Given the description of an element on the screen output the (x, y) to click on. 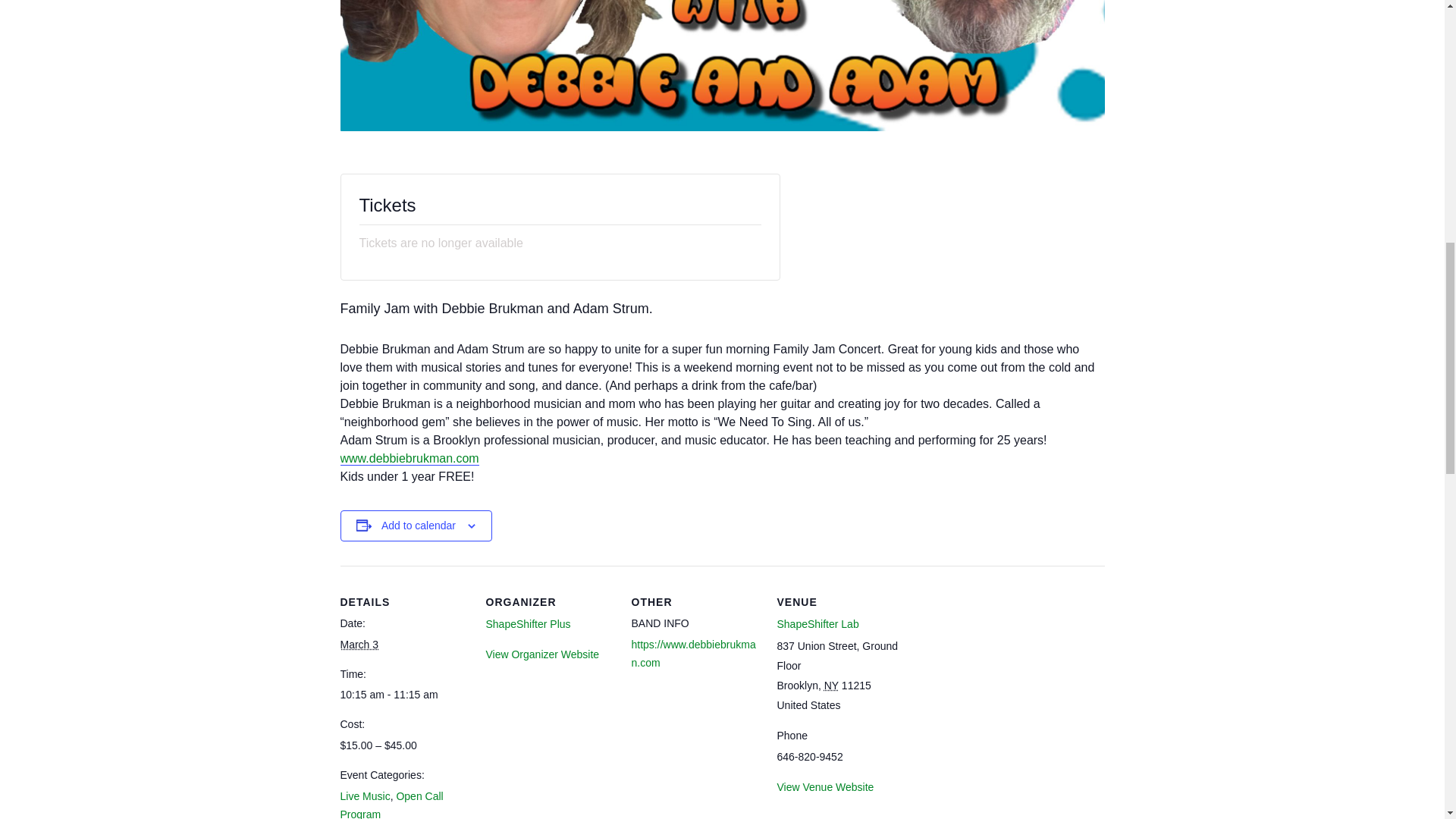
Open Call Program (390, 804)
Add to calendar (418, 525)
ShapeShifter Plus (527, 623)
ShapeShifter Plus (527, 623)
2024-03-03 (358, 644)
ShapeShifter Lab (817, 623)
www.debbiebrukman.com (409, 459)
View Venue Website (824, 787)
Live Music (364, 796)
New York (831, 685)
2024-03-03 (403, 694)
View Organizer Website (541, 654)
